Given the description of an element on the screen output the (x, y) to click on. 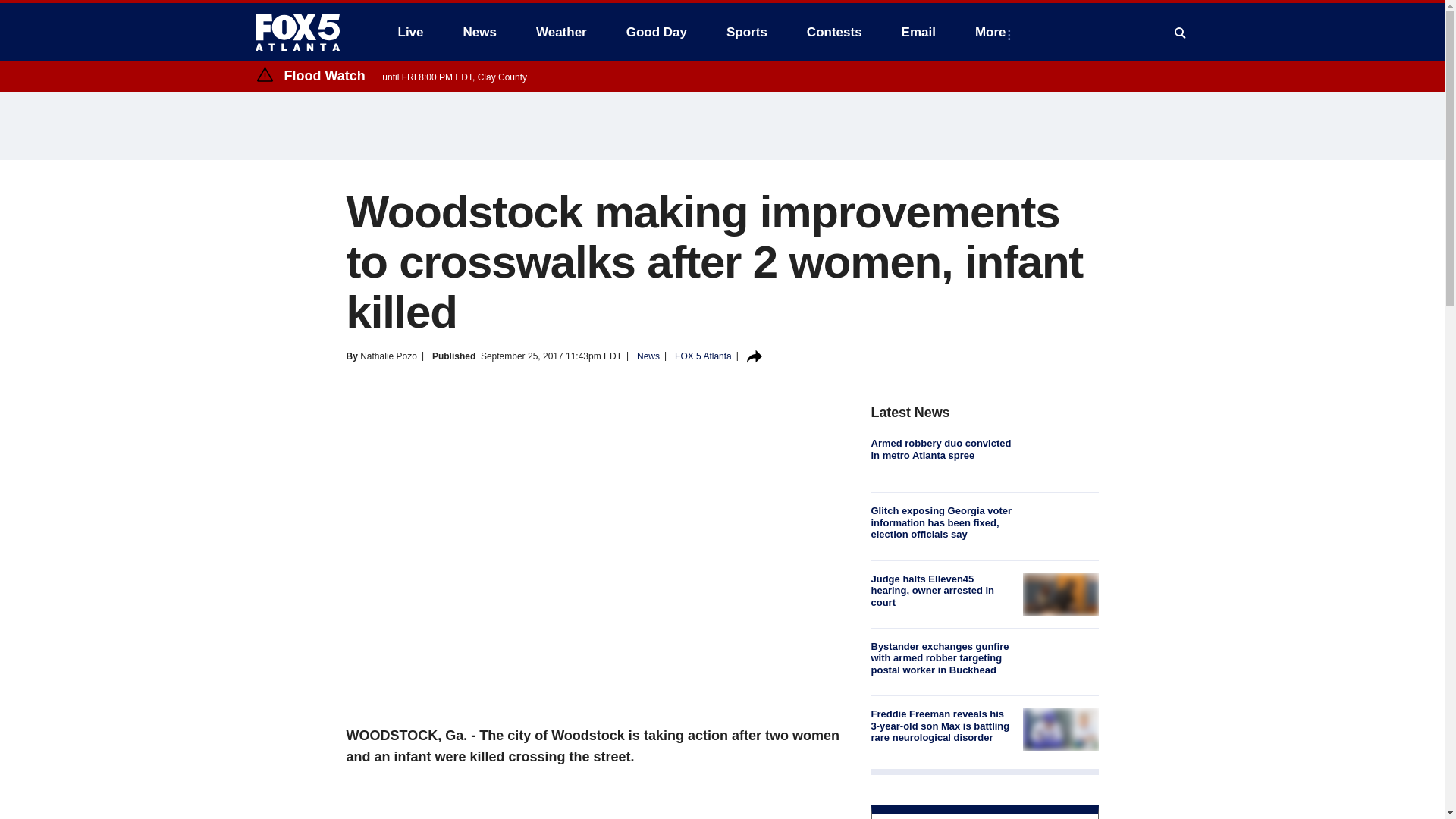
Contests (834, 32)
More (993, 32)
Sports (746, 32)
Email (918, 32)
Live (410, 32)
Good Day (656, 32)
Weather (561, 32)
News (479, 32)
